Given the description of an element on the screen output the (x, y) to click on. 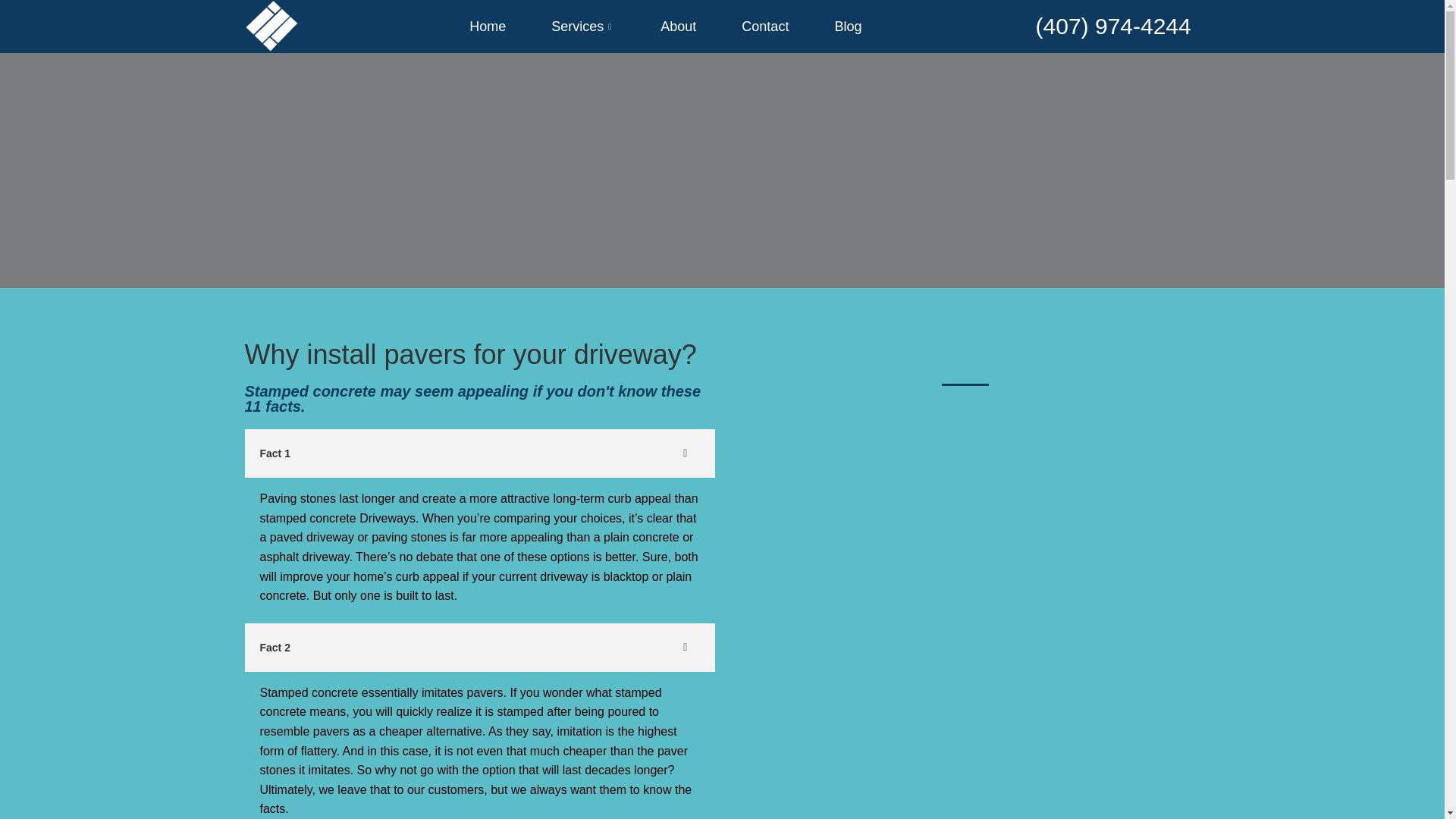
Blog (846, 26)
Contact (764, 26)
About (678, 26)
Services (582, 26)
Home (487, 26)
